Given the description of an element on the screen output the (x, y) to click on. 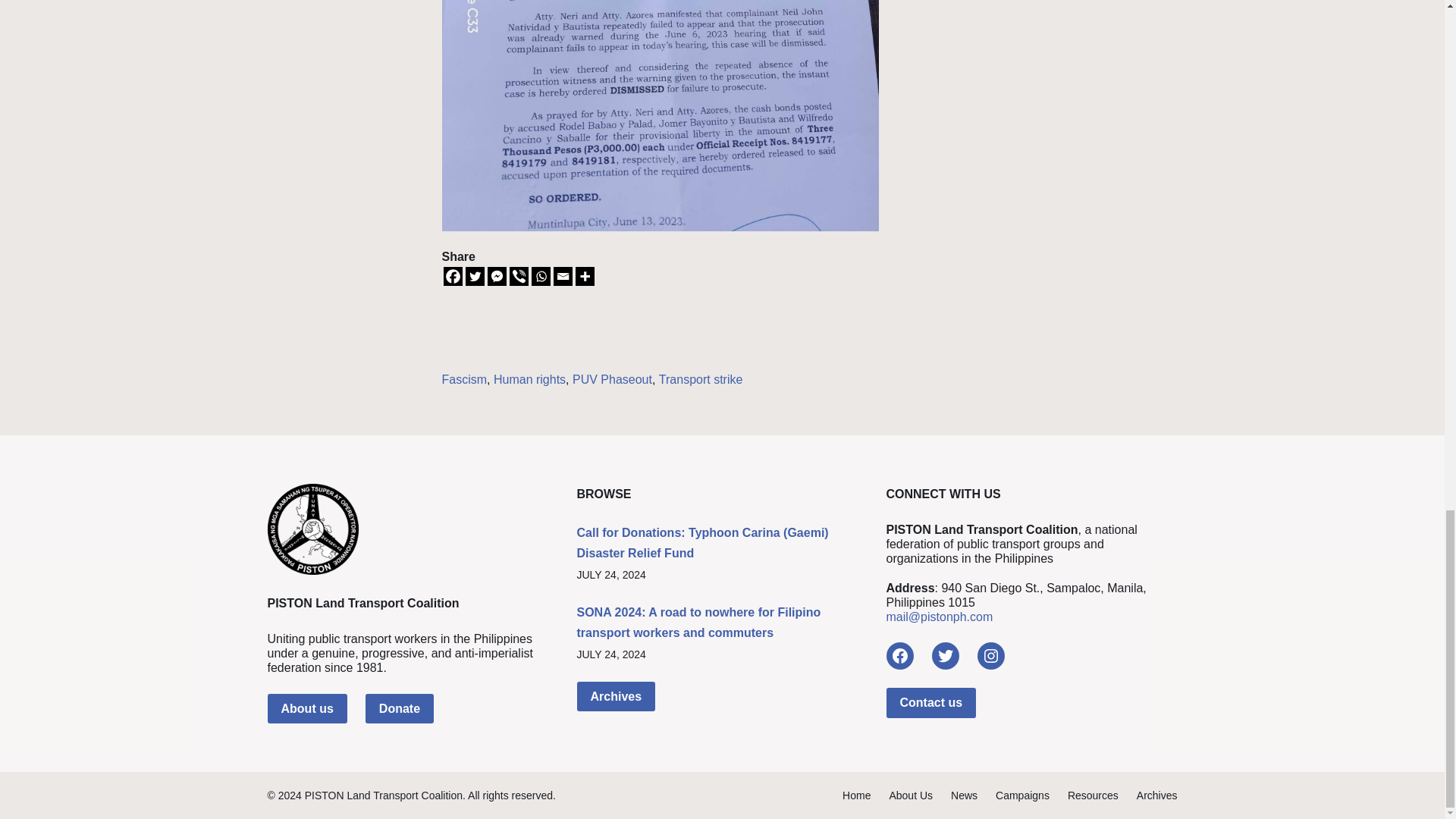
Archives (615, 696)
Facebook (898, 655)
Email (562, 275)
Whatsapp (540, 275)
Twitter (474, 275)
Human rights (529, 379)
More (584, 275)
PUV Phaseout (612, 379)
About us (306, 708)
Donate (399, 708)
Facebook (451, 275)
Viber (518, 275)
Transport strike (700, 379)
Fascism (463, 379)
